Given the description of an element on the screen output the (x, y) to click on. 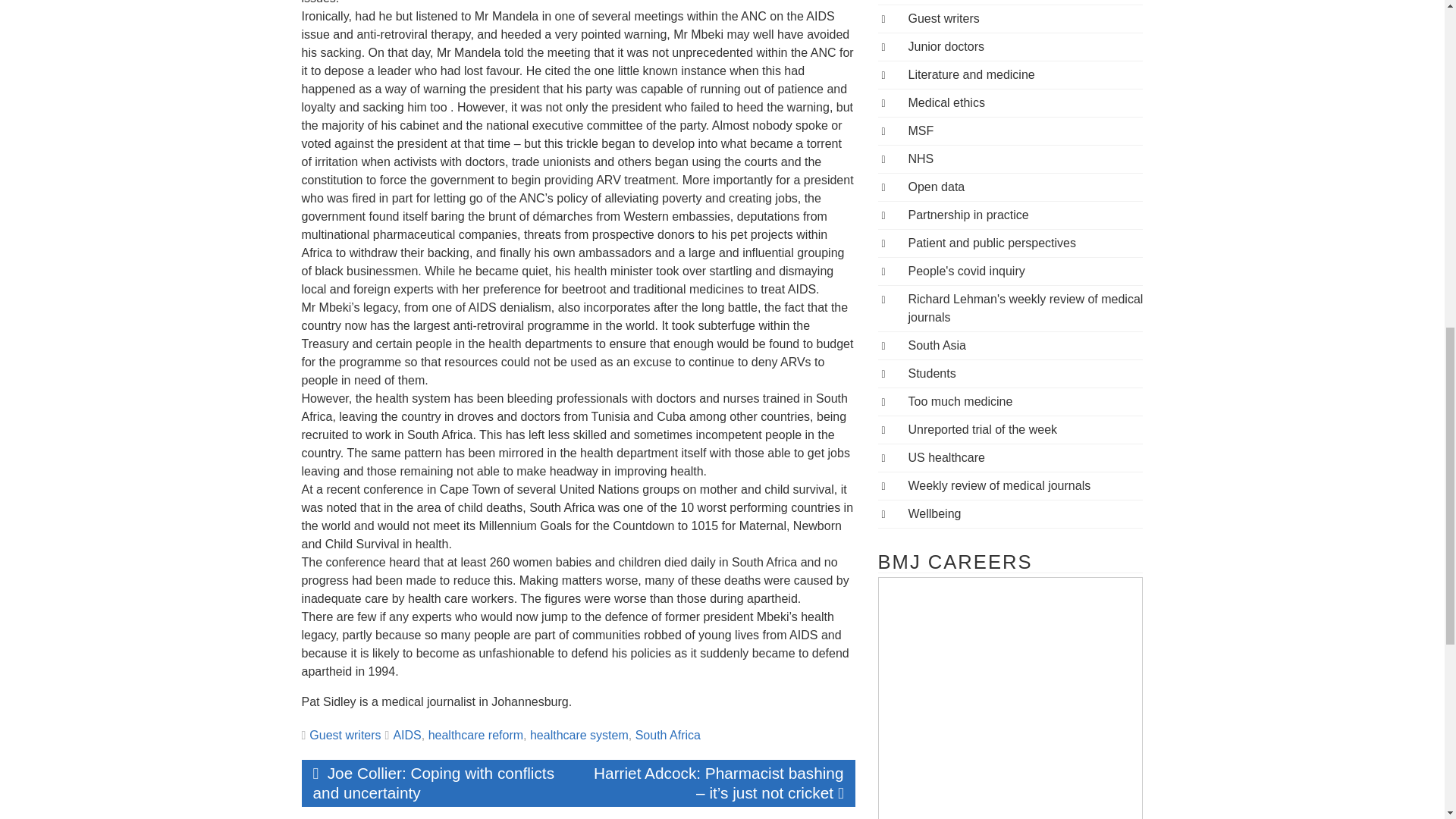
healthcare system (578, 735)
South Africa (667, 735)
 Joe Collier: Coping with conflicts and uncertainty (439, 783)
AIDS (406, 735)
healthcare reform (475, 735)
Guest writers (344, 735)
